Given the description of an element on the screen output the (x, y) to click on. 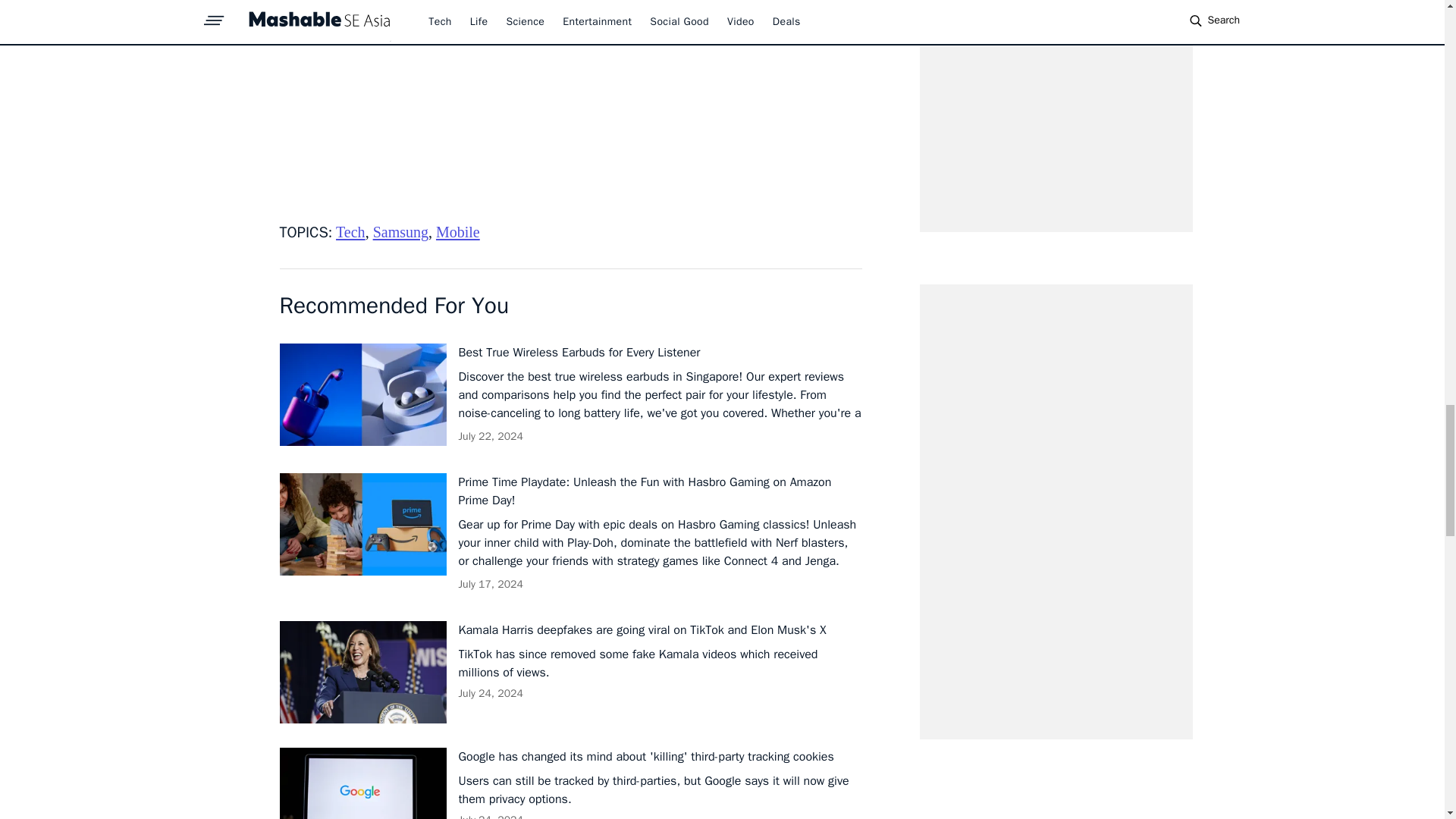
Tech (350, 231)
Samsung (400, 231)
Mobile (457, 231)
